Given the description of an element on the screen output the (x, y) to click on. 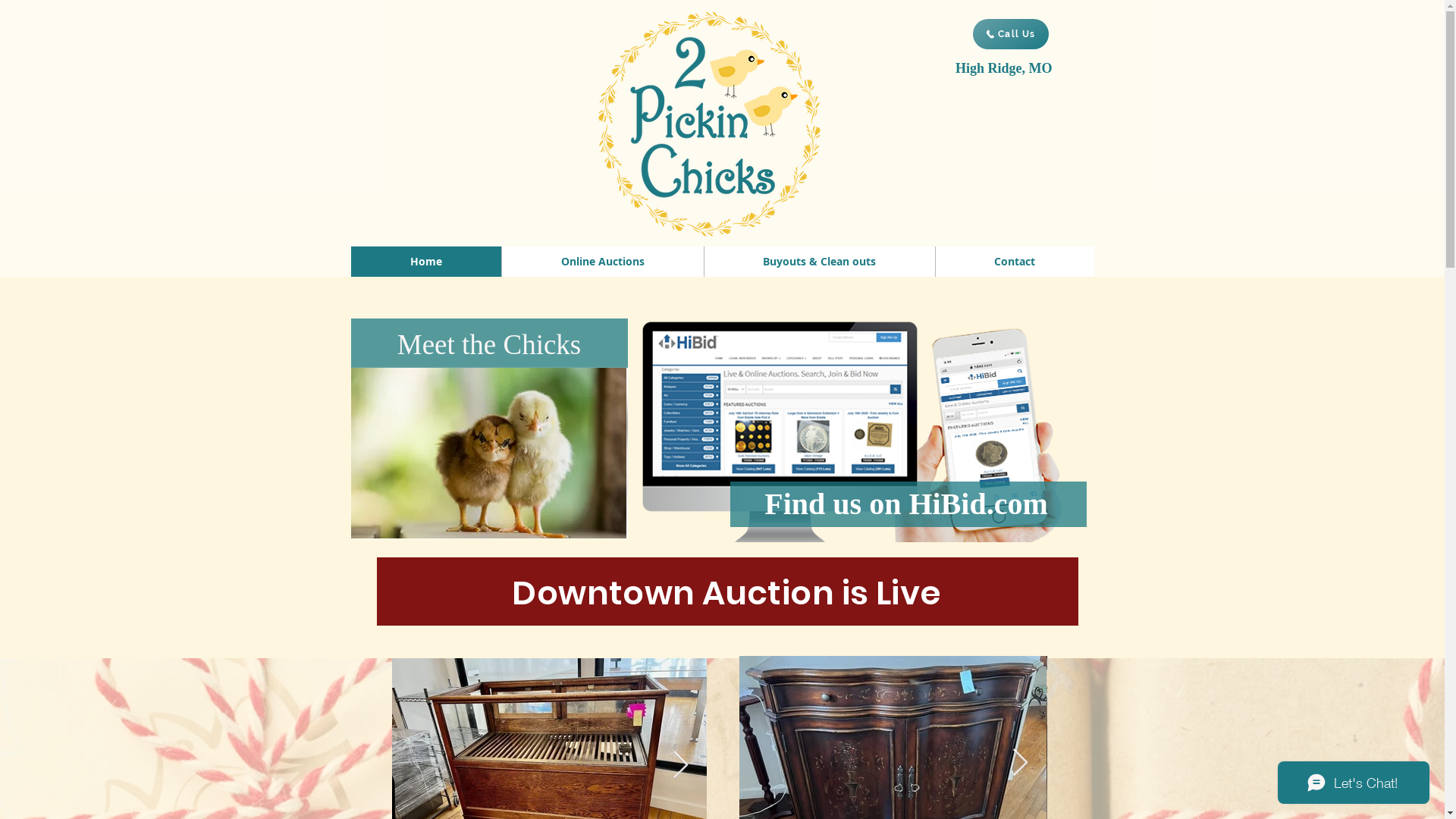
Home Element type: text (425, 261)
Call Us Element type: text (1010, 33)
Skyscrapers Above Times Square at Dawn Element type: hover (854, 422)
Contact Element type: text (1013, 261)
Buyouts & Clean outs Element type: text (819, 261)
Online Auctions Element type: text (601, 261)
Meet the Chicks Element type: text (489, 344)
